Given the description of an element on the screen output the (x, y) to click on. 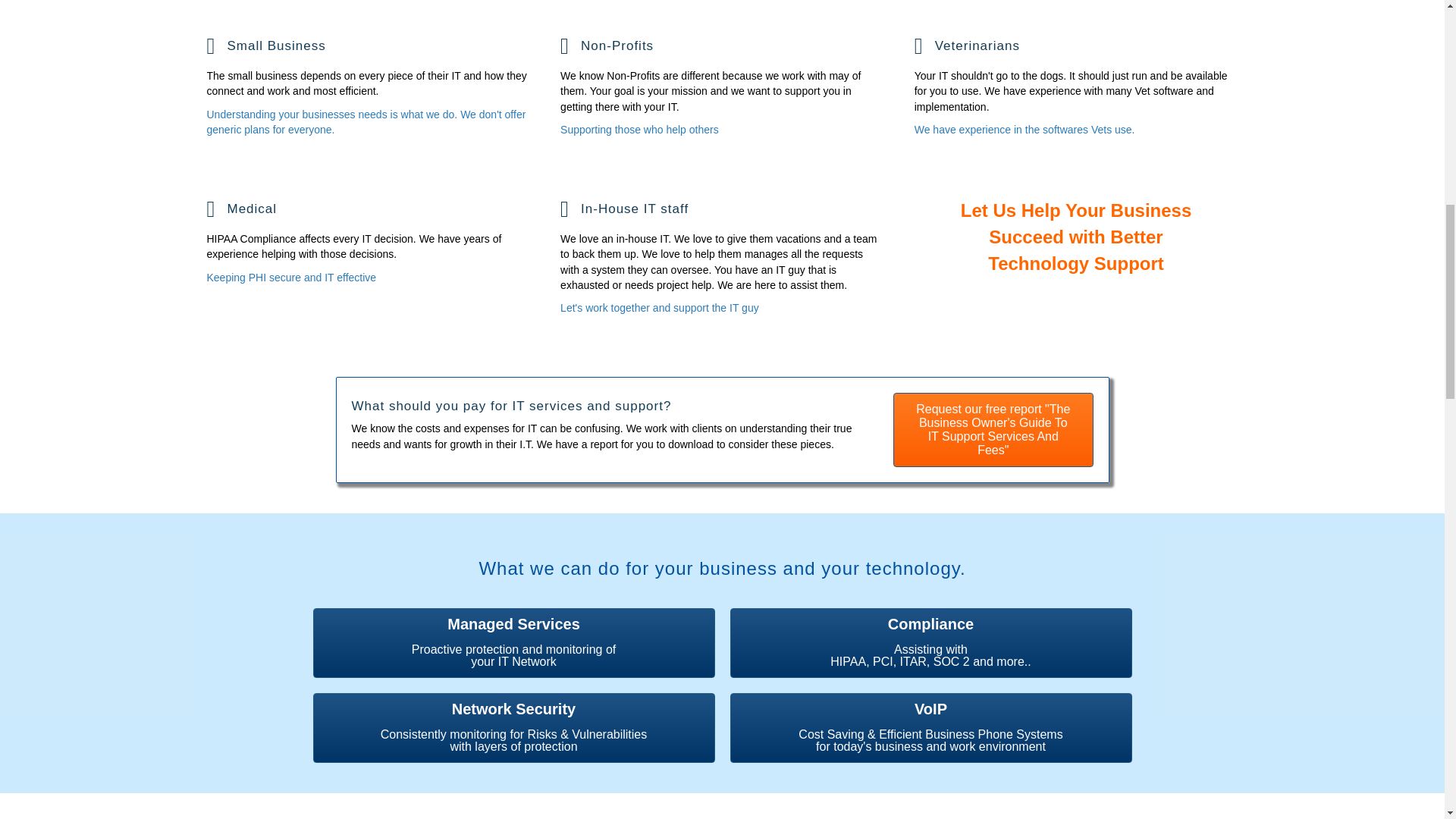
We have experience in the softwares Vets use. (1076, 129)
Supporting those who help others (721, 129)
Small Business (265, 52)
Medical (241, 216)
Non-Profits (606, 52)
Veterinarians (967, 52)
